Given the description of an element on the screen output the (x, y) to click on. 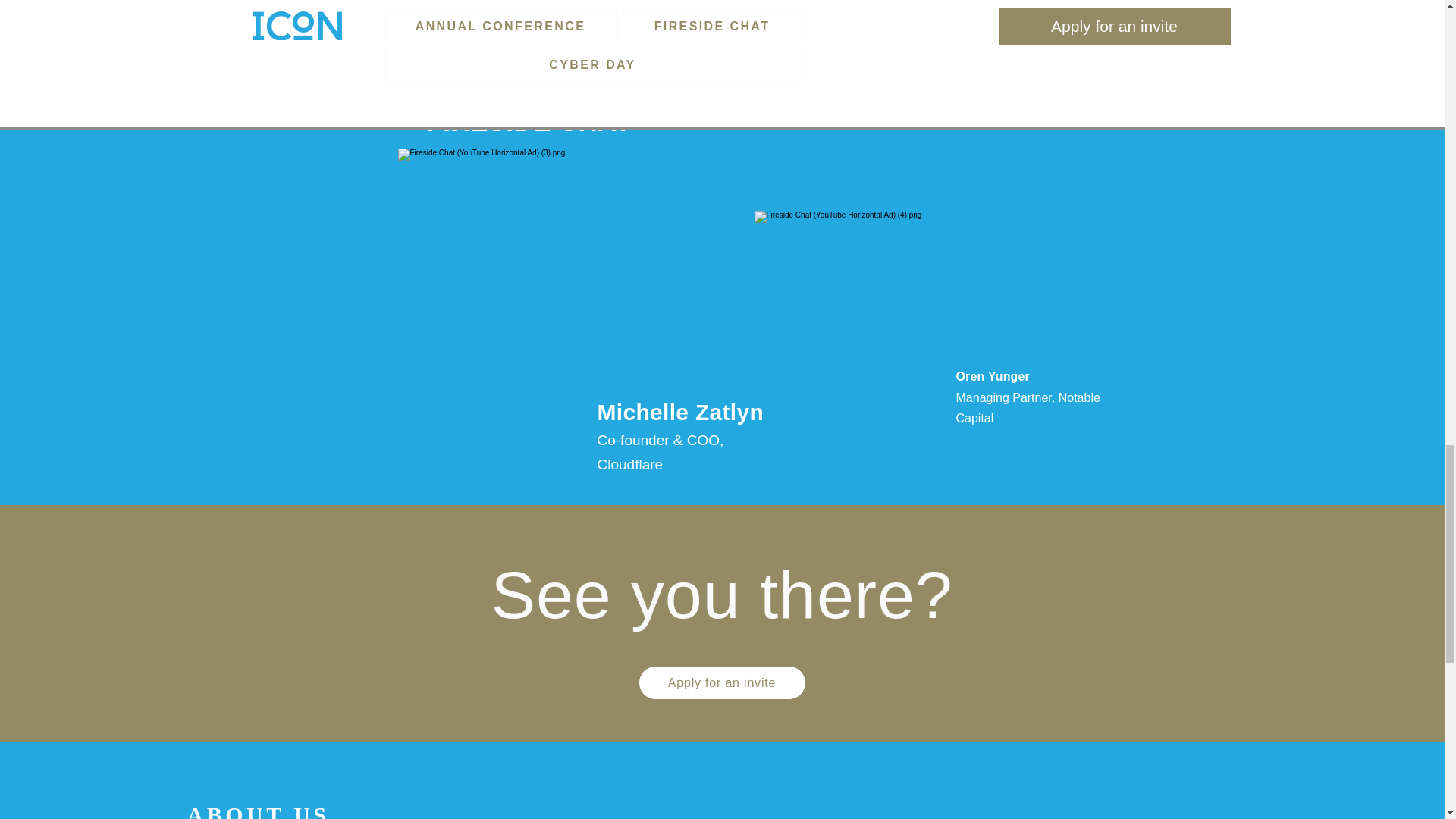
Apply for an invite (722, 682)
